Given the description of an element on the screen output the (x, y) to click on. 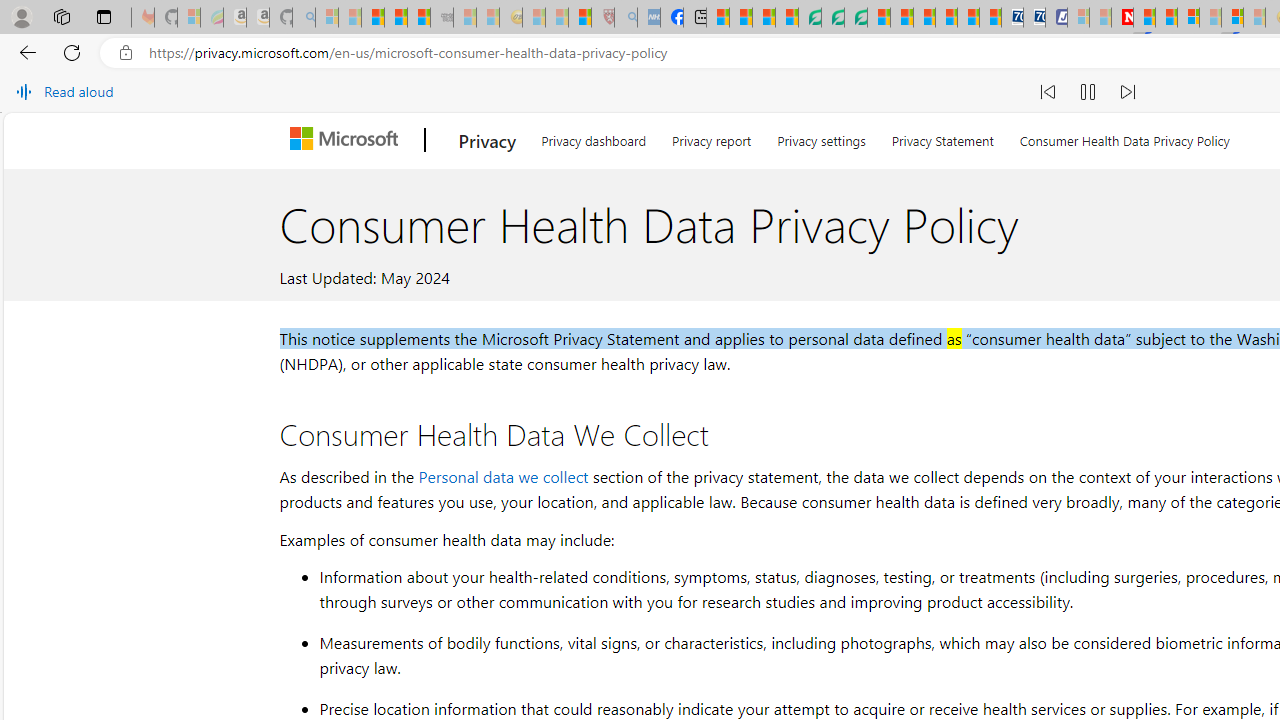
Privacy (487, 140)
MSNBC - MSN (717, 17)
Microsoft (348, 140)
Consumer Health Data Privacy Policy (1124, 137)
LendingTree - Compare Lenders (809, 17)
Consumer Health Data Privacy Policy (1124, 137)
Microsoft-Report a Concern to Bing - Sleeping (188, 17)
Privacy settings (821, 137)
Read next paragraph (1128, 92)
